Given the description of an element on the screen output the (x, y) to click on. 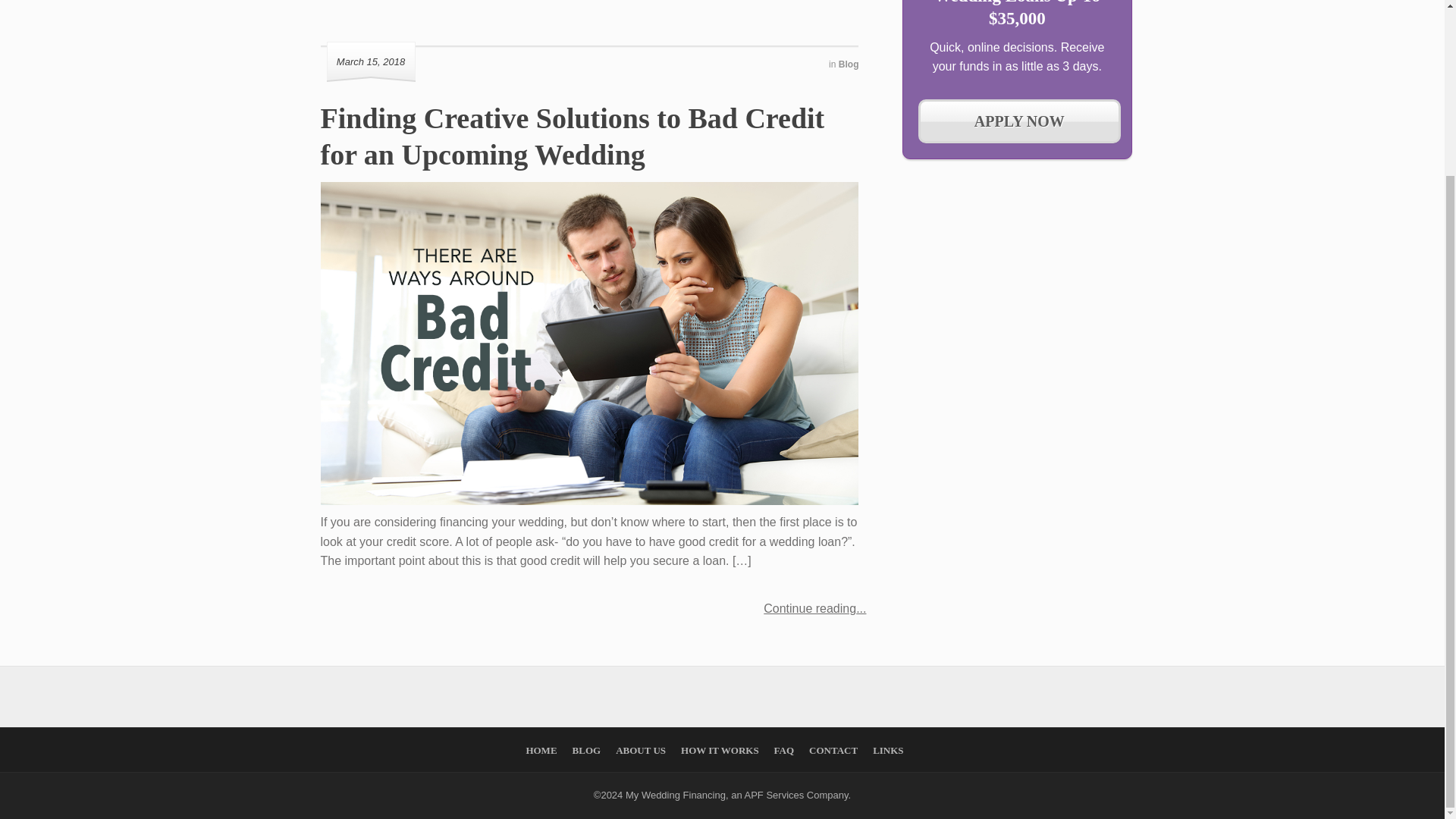
Blog (848, 63)
APPLY NOW (1018, 121)
HOME (540, 749)
FAQ (783, 749)
LINKS (887, 749)
CONTACT (833, 749)
Continue reading (814, 608)
ABOUT US (640, 749)
